Given the description of an element on the screen output the (x, y) to click on. 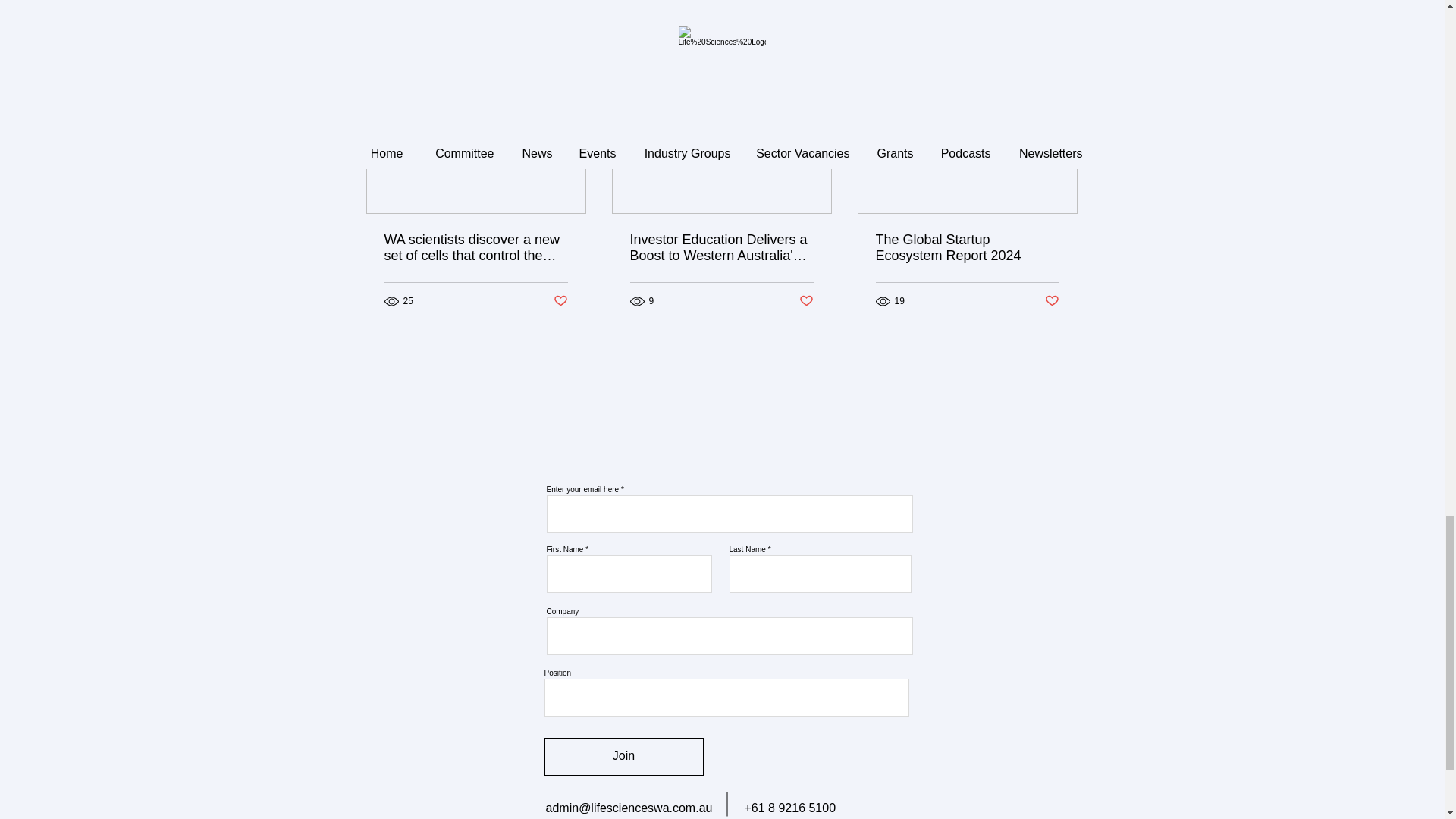
See All (1061, 64)
Join (623, 756)
Post not marked as liked (806, 301)
Post not marked as liked (1052, 301)
Post not marked as liked (560, 301)
The Global Startup Ecosystem Report 2024 (966, 247)
